Given the description of an element on the screen output the (x, y) to click on. 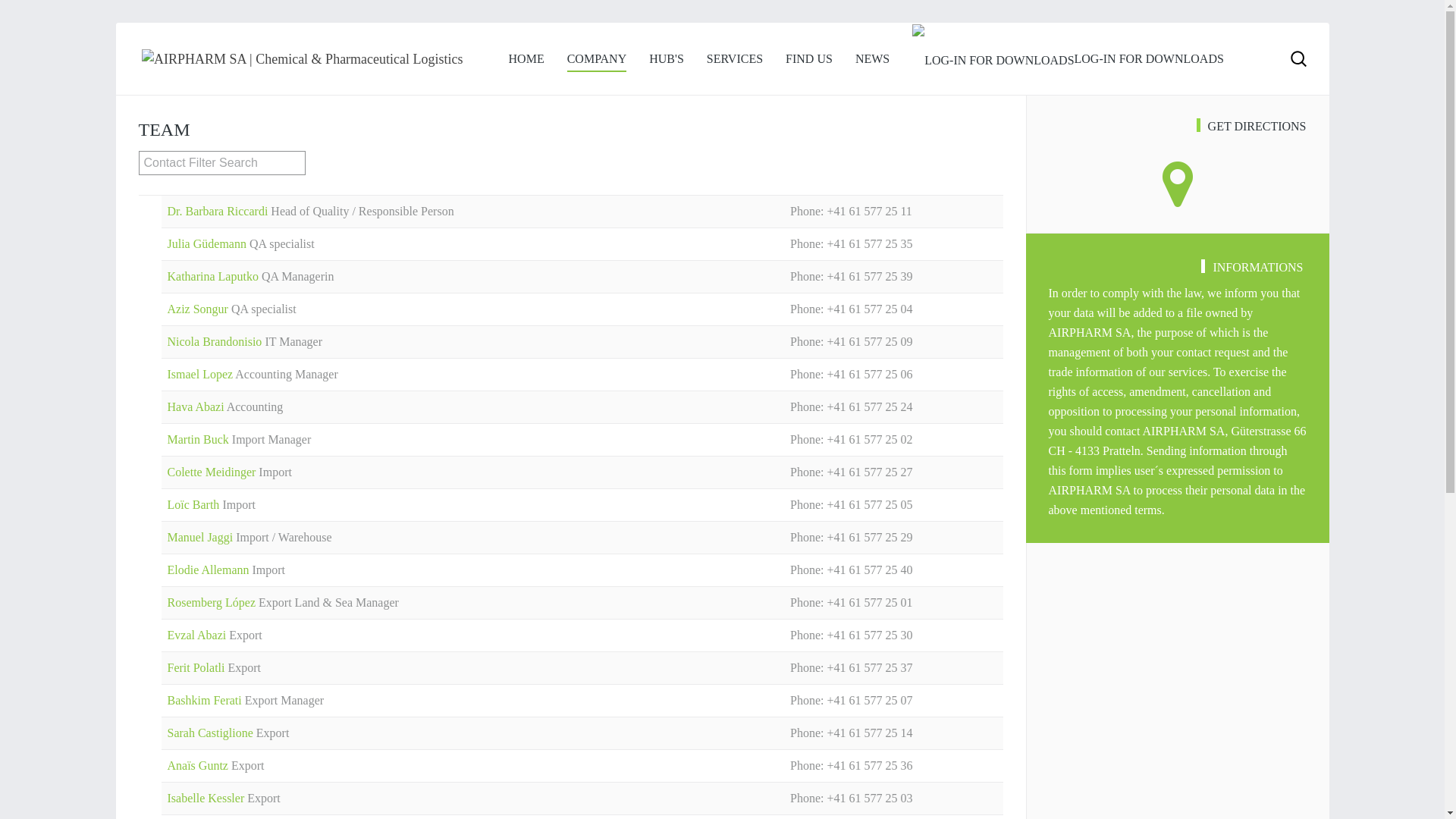
Bashkim Ferati Element type: text (205, 699)
SERVICES Element type: text (734, 58)
Hava Abazi Element type: text (195, 406)
Elodie Allemann Element type: text (208, 569)
COMPANY Element type: text (597, 58)
Contact Filter Search Element type: hover (221, 162)
NEWS Element type: text (872, 58)
Nicola Brandonisio Element type: text (215, 341)
Ismael Lopez Element type: text (200, 373)
Isabelle Kessler Element type: text (206, 797)
Dr. Barbara Riccardi Element type: text (218, 210)
Katharina Laputko Element type: text (213, 275)
FIND US Element type: text (808, 58)
HUB'S Element type: text (666, 58)
Sarah Castiglione Element type: text (210, 732)
HOME Element type: text (526, 58)
Colette Meidinger Element type: text (212, 471)
Aziz Songur Element type: text (198, 308)
Ferit Polatli Element type: text (196, 667)
Martin Buck Element type: text (198, 439)
LOG-IN FOR DOWNLOADS Element type: text (1067, 58)
Evzal Abazi Element type: text (197, 634)
Manuel Jaggi Element type: text (200, 536)
